Given the description of an element on the screen output the (x, y) to click on. 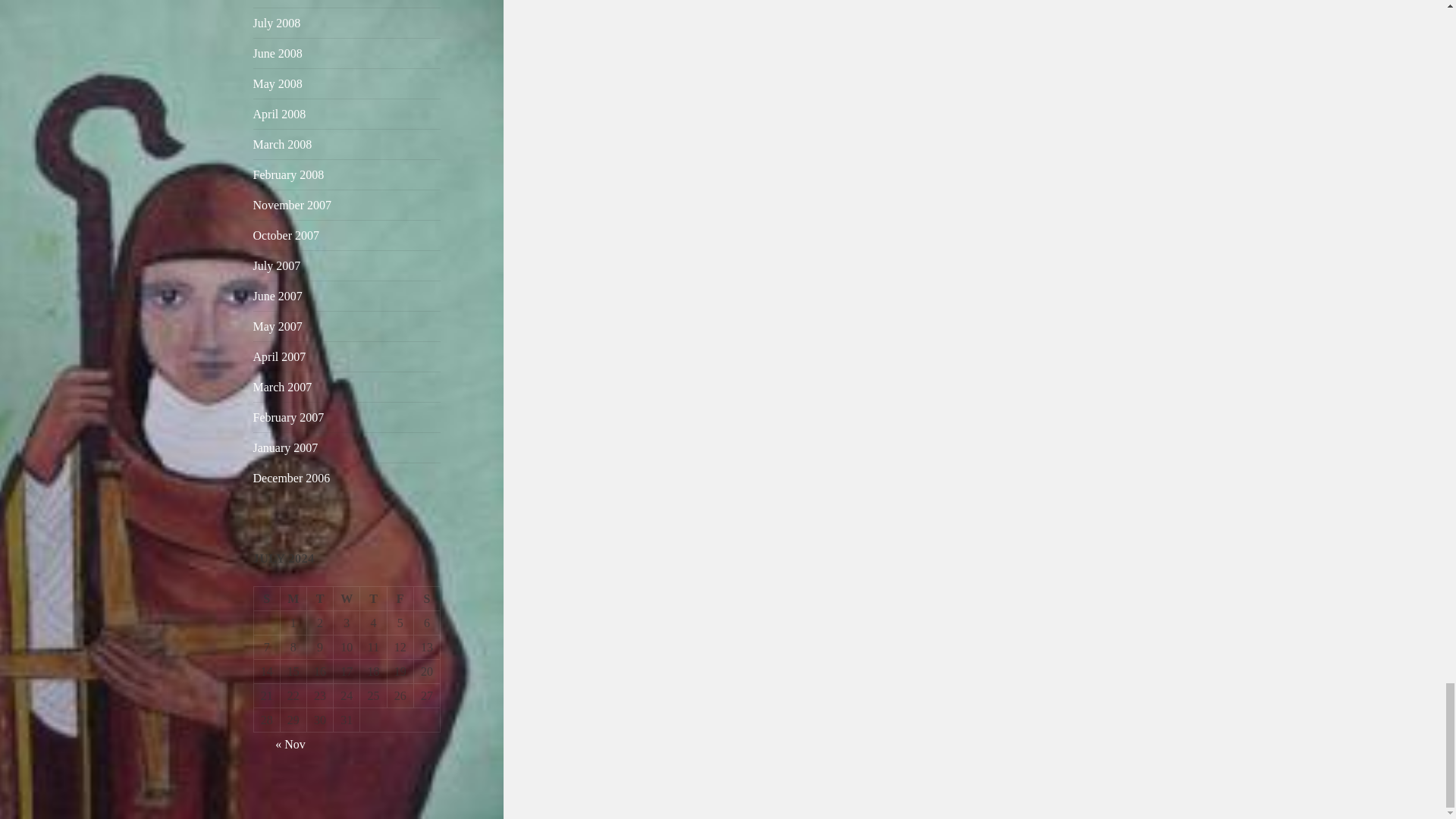
Sunday (267, 598)
Thursday (373, 598)
Saturday (427, 598)
Monday (294, 598)
Wednesday (346, 598)
Tuesday (320, 598)
Friday (400, 598)
